Given the description of an element on the screen output the (x, y) to click on. 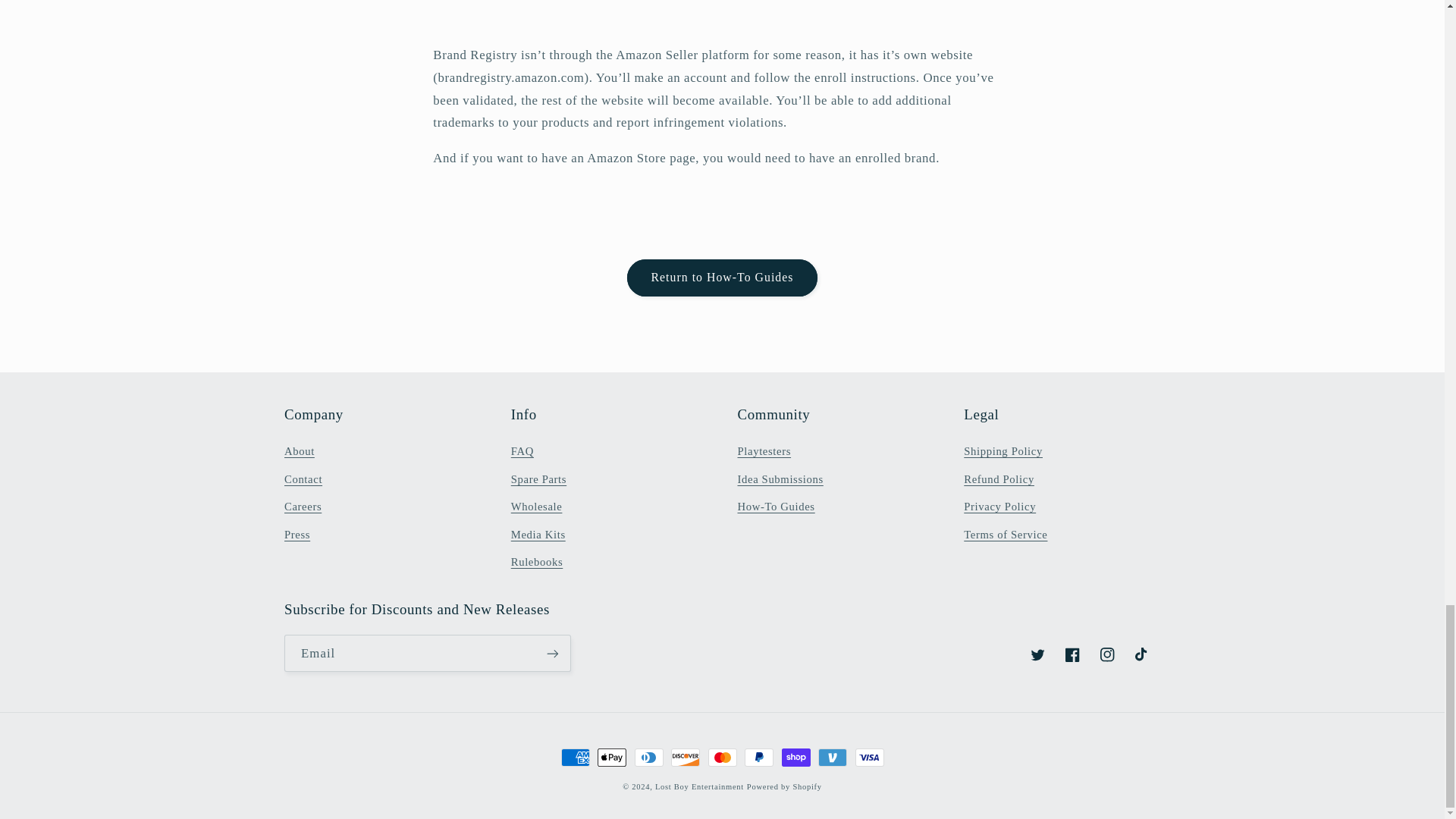
Contact (302, 479)
Return to How-To Guides (721, 277)
About (298, 454)
Press (296, 533)
Careers (302, 506)
